Given the description of an element on the screen output the (x, y) to click on. 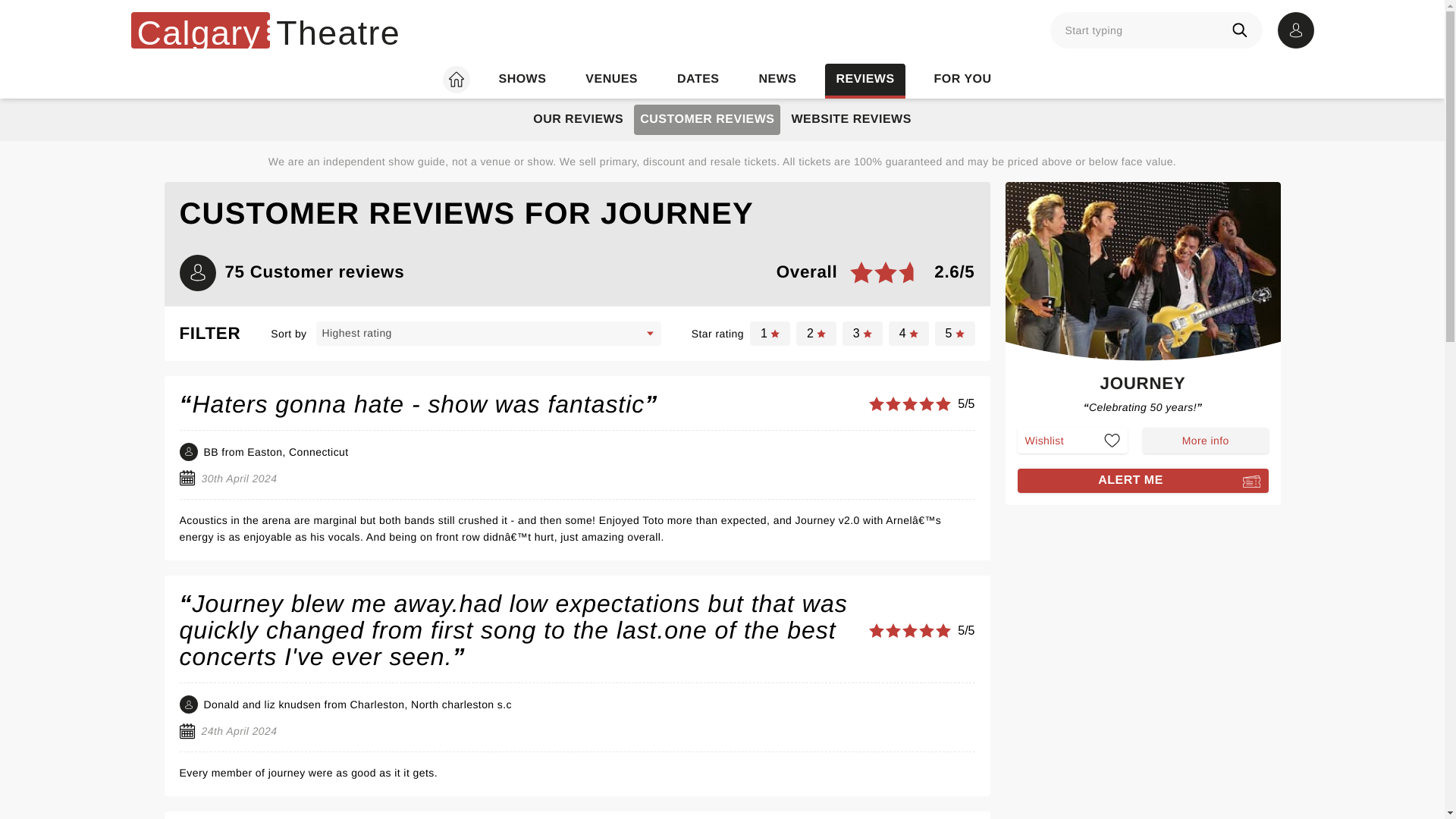
CUSTOMER REVIEWS (706, 119)
VENUES (611, 80)
2 (815, 333)
Open account options (1294, 30)
More info (1205, 440)
1 (769, 333)
3 (862, 333)
ALERT ME (1142, 480)
REVIEWS (864, 80)
DATES (697, 80)
Wishlist (1072, 440)
4 (908, 333)
JOURNEY (265, 30)
SHOWS (1143, 386)
